Given the description of an element on the screen output the (x, y) to click on. 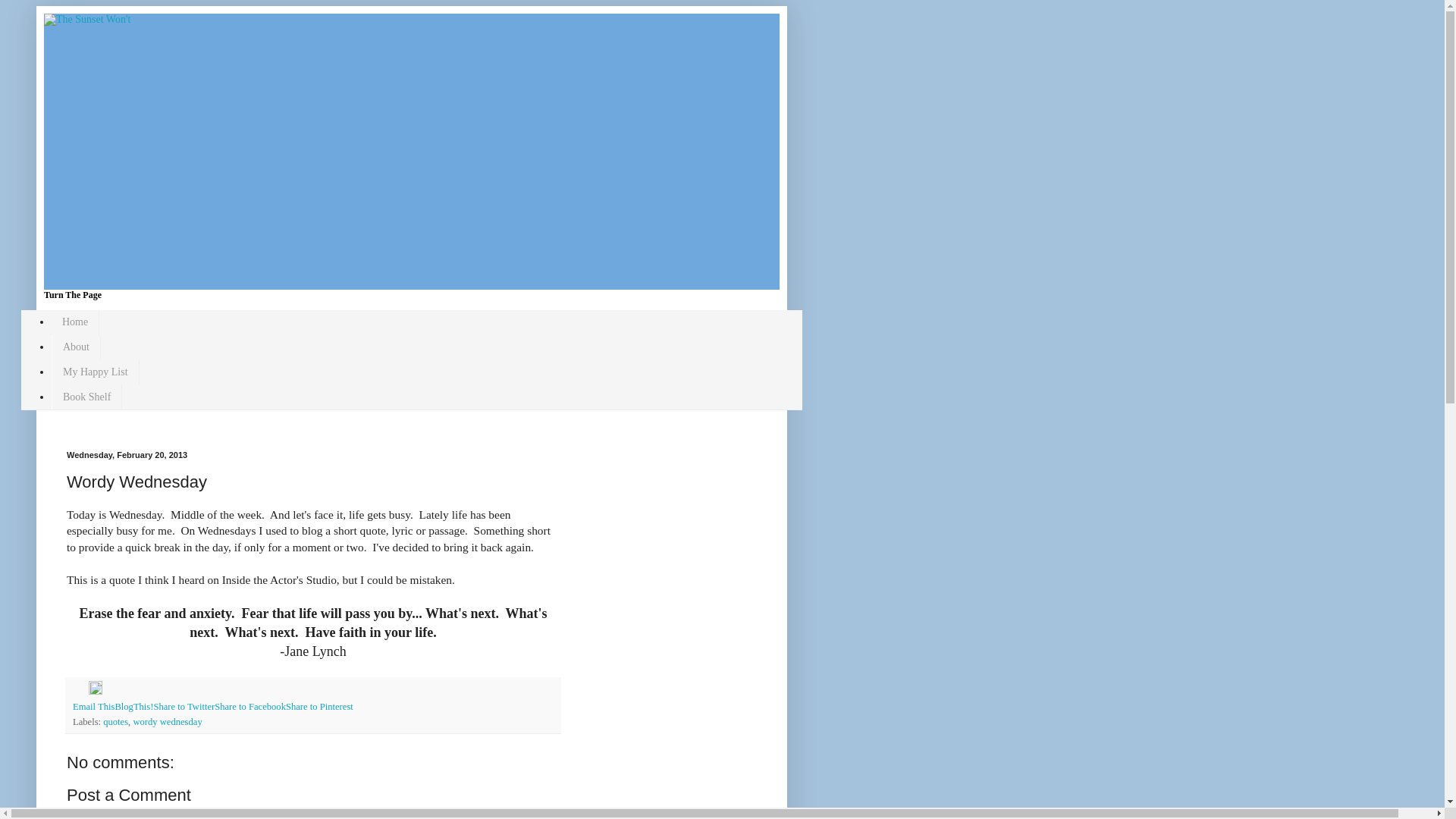
wordy wednesday (167, 721)
BlogThis! (133, 706)
Book Shelf (86, 396)
Share to Facebook (249, 706)
quotes (115, 721)
Email Post (80, 691)
My Happy List (94, 372)
Share to Pinterest (319, 706)
Share to Twitter (183, 706)
Home (74, 322)
Email This (93, 706)
Share to Twitter (183, 706)
Email This (93, 706)
Share to Pinterest (319, 706)
Edit Post (94, 691)
